Given the description of an element on the screen output the (x, y) to click on. 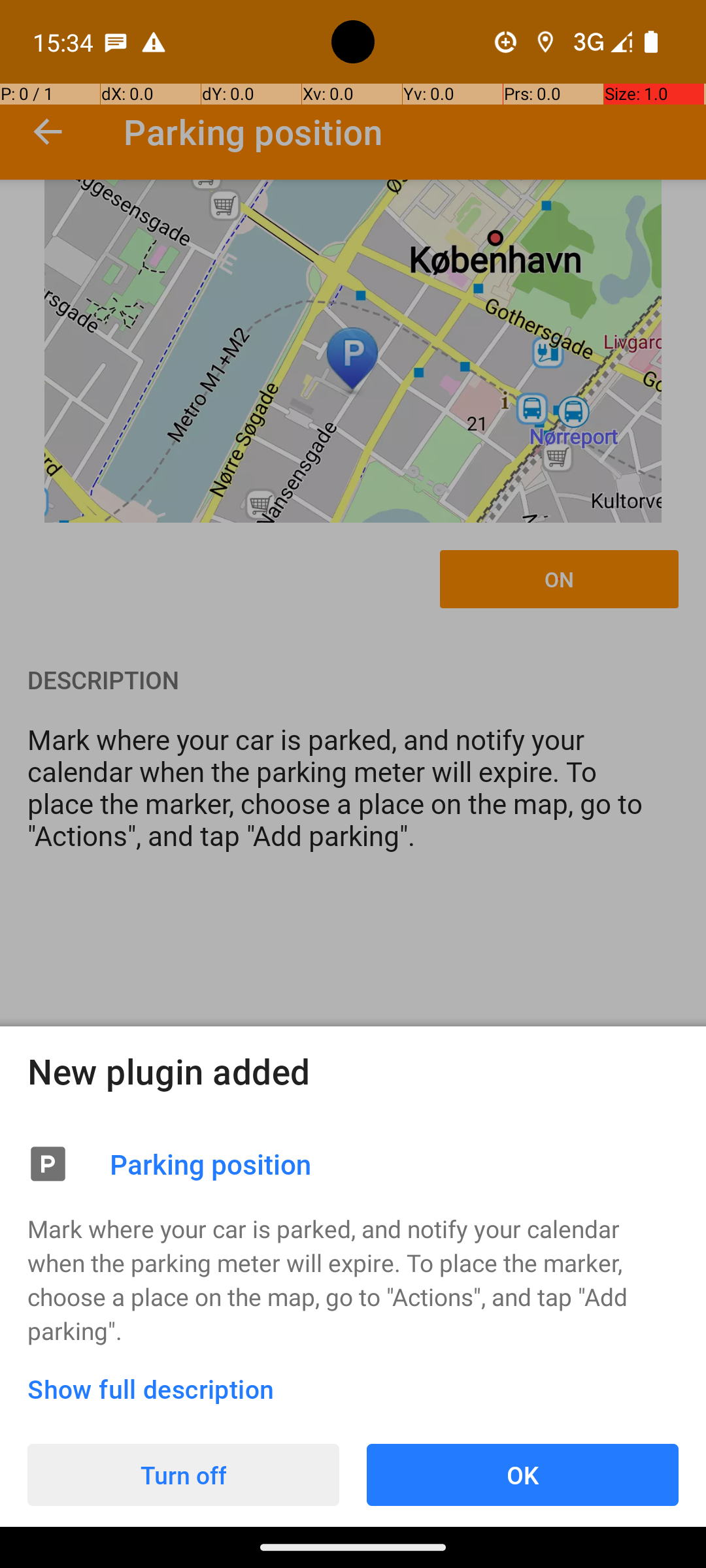
Close the dialog Element type: android.view.View (353, 541)
New plugin added Element type: android.widget.TextView (353, 1070)
Parking position Element type: android.widget.TextView (393, 1163)
Mark where your car is parked, and notify your calendar when the parking meter will expire. To place the marker, choose a place on the map, go to "Actions", and tap "Add parking". Element type: android.widget.TextView (353, 1279)
Show full description Element type: android.widget.TextView (150, 1388)
Turn off Element type: android.widget.TextView (182, 1474)
